Given the description of an element on the screen output the (x, y) to click on. 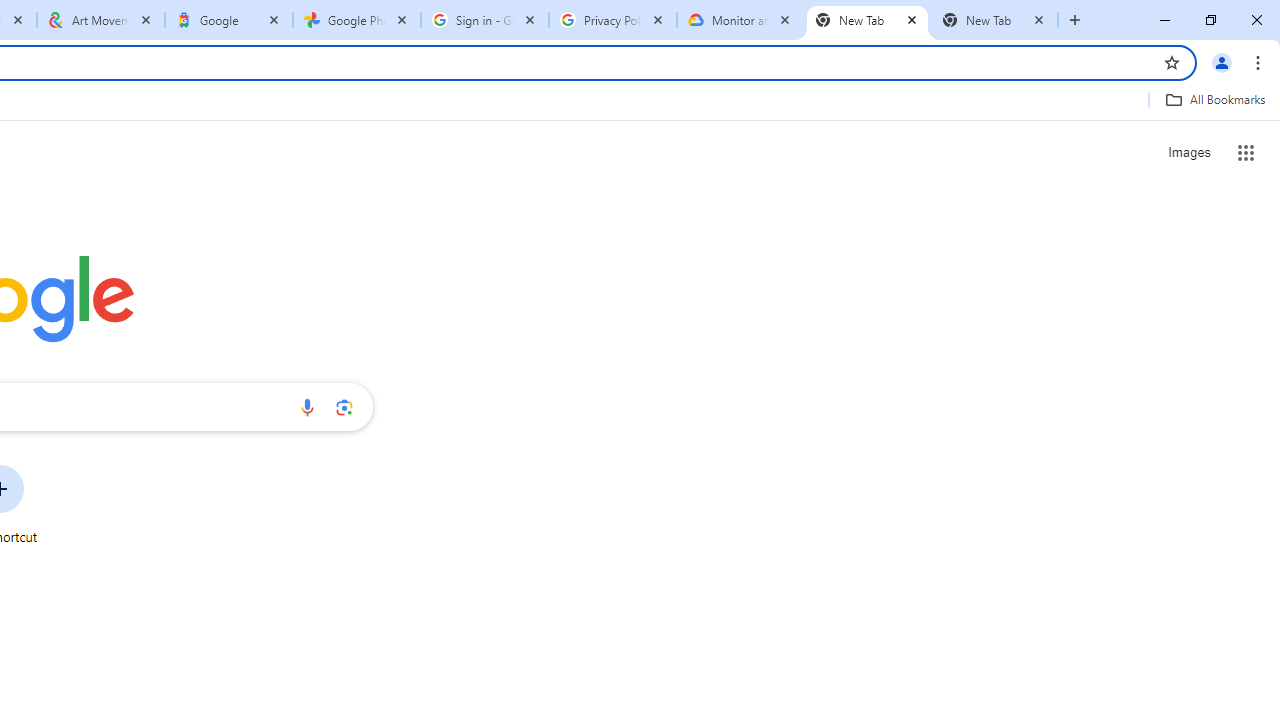
New Tab (866, 20)
Sign in - Google Accounts (485, 20)
New Tab (994, 20)
